Given the description of an element on the screen output the (x, y) to click on. 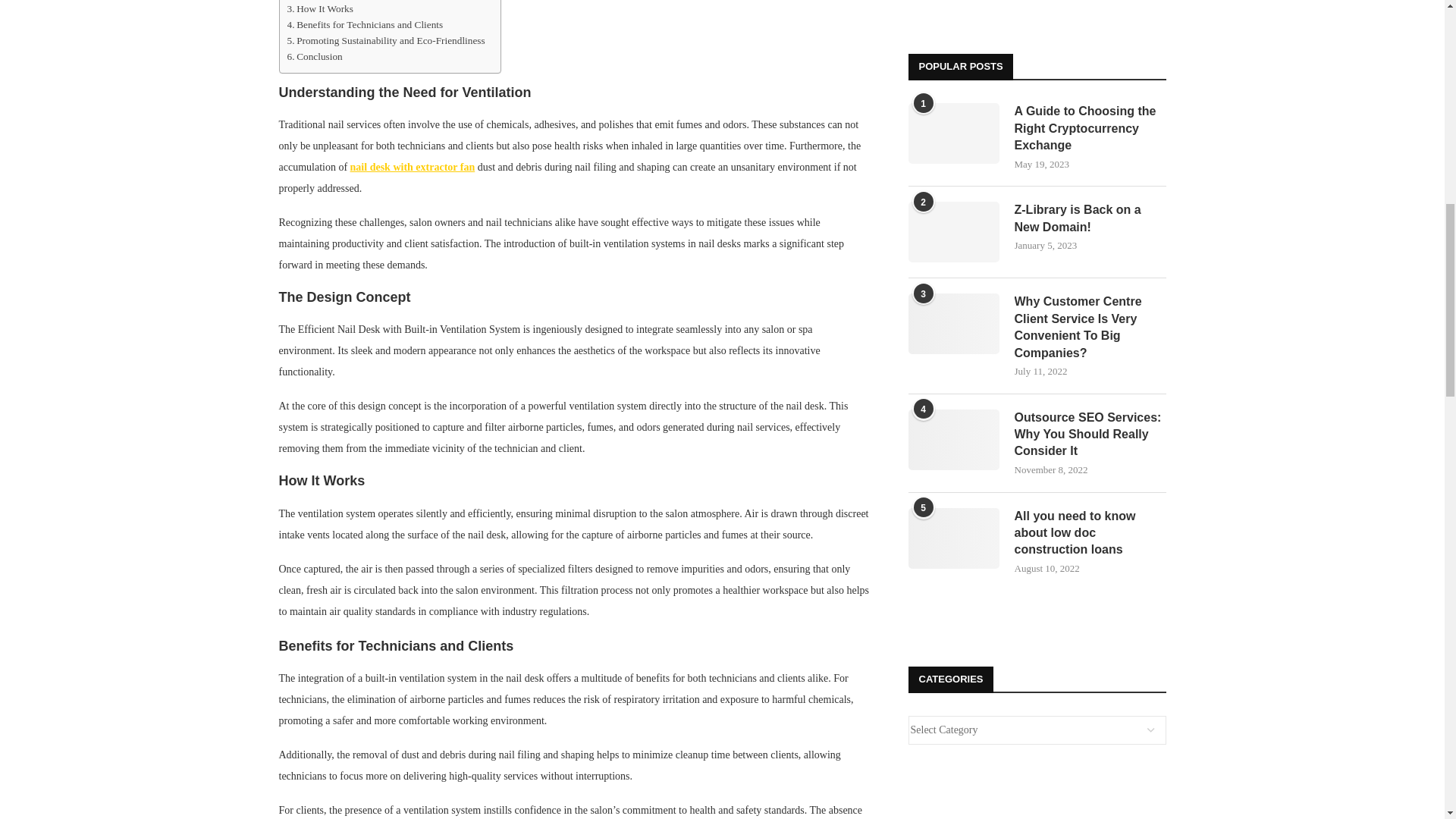
How It Works (319, 7)
Benefits for Technicians and Clients (364, 24)
Conclusion (314, 56)
Benefits for Technicians and Clients (364, 24)
Conclusion (314, 56)
How It Works (319, 7)
Promoting Sustainability and Eco-Friendliness (385, 40)
nail desk with extractor fan (413, 166)
Promoting Sustainability and Eco-Friendliness (385, 40)
